Given the description of an element on the screen output the (x, y) to click on. 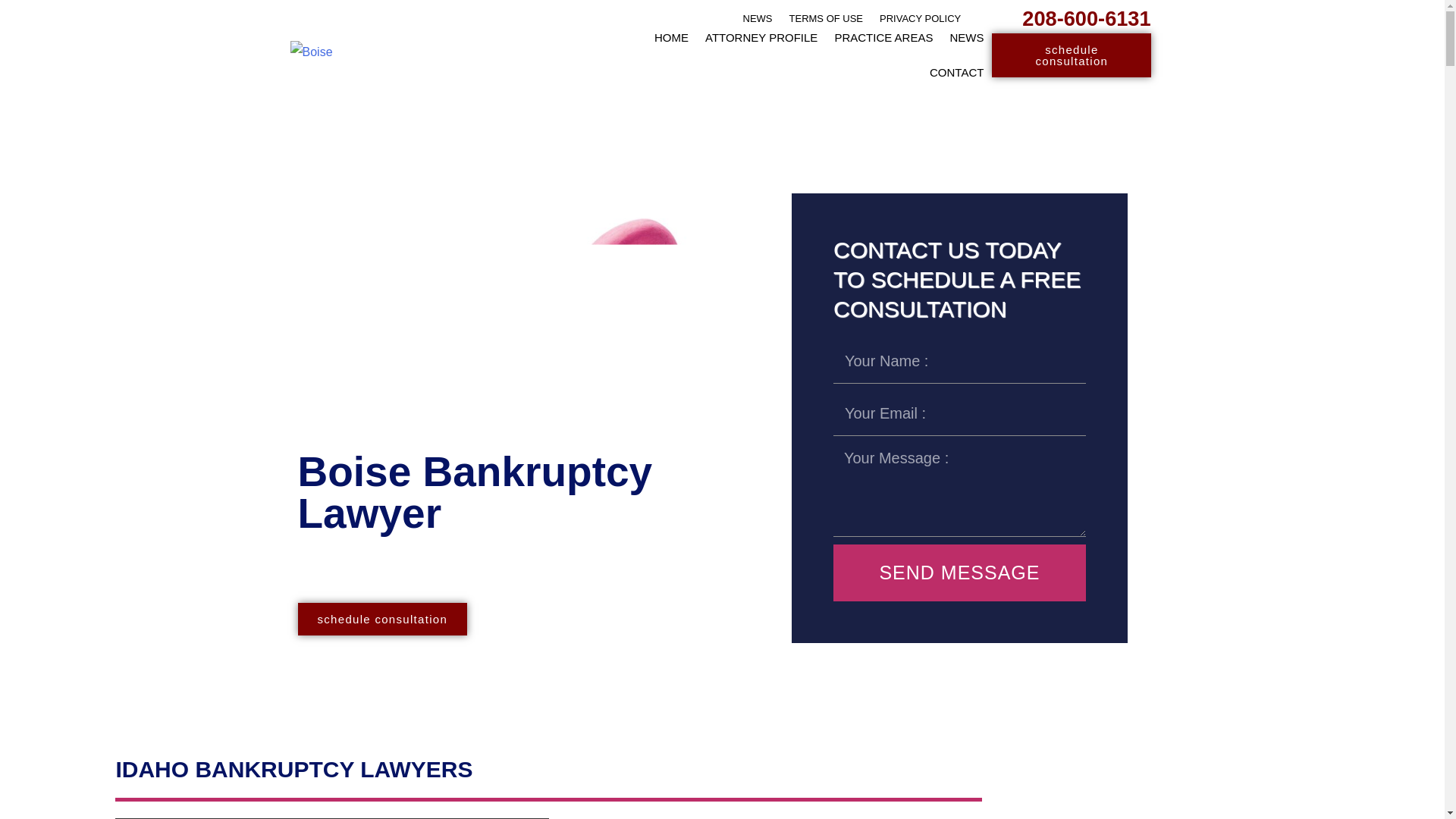
Our Attorney Profile (761, 36)
ATTORNEY PROFILE (761, 36)
NEWS (965, 36)
208-600-6131 (1086, 18)
PRIVACY POLICY (919, 18)
Contact Idaho Bankruptcy Firm (956, 71)
CONTACT (956, 71)
HOME (671, 36)
Idaho Bankruptcy Firm Blogs (965, 36)
SEND MESSAGE (959, 572)
